Given the description of an element on the screen output the (x, y) to click on. 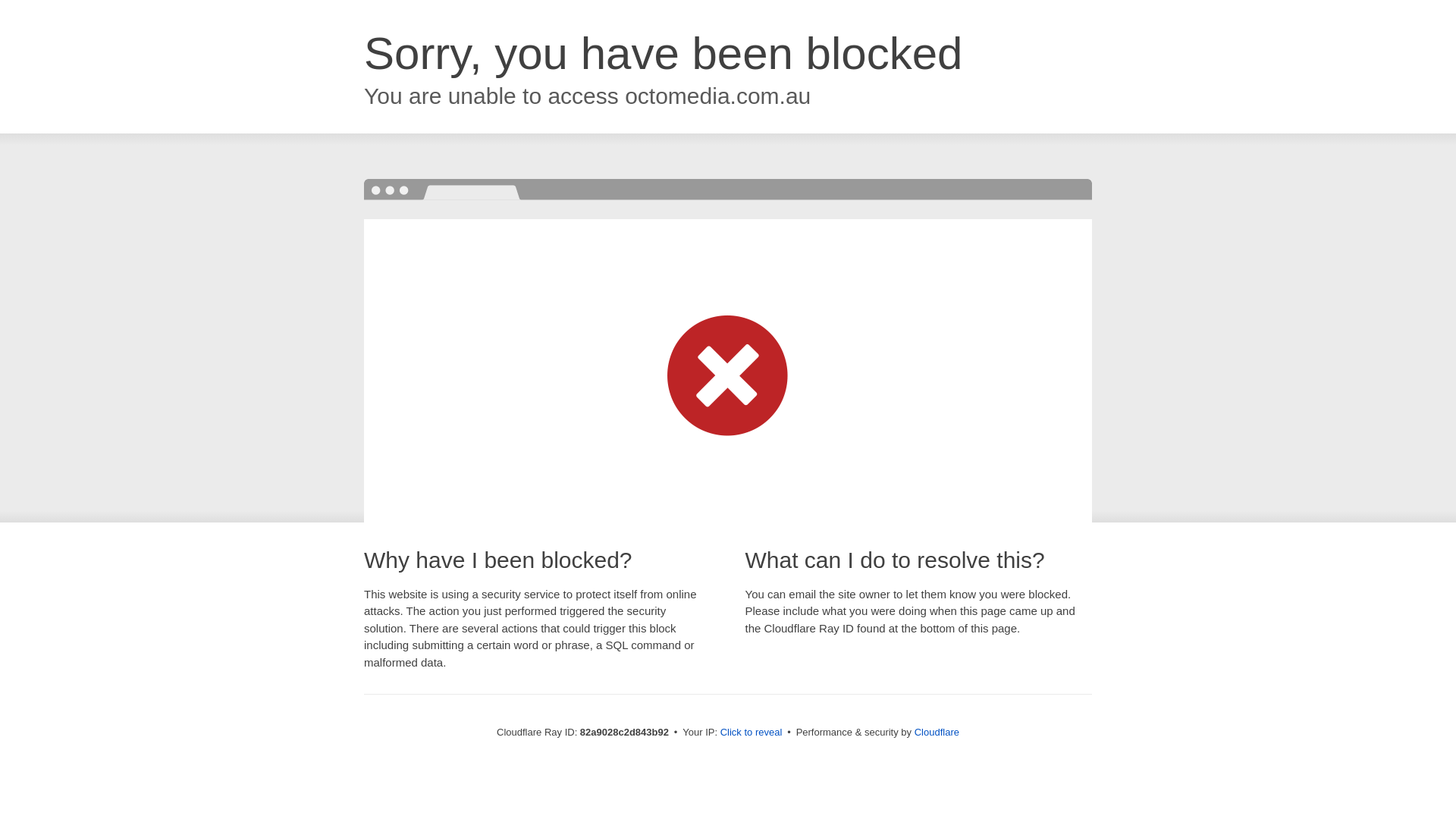
Click to reveal Element type: text (751, 732)
Cloudflare Element type: text (936, 731)
